Given the description of an element on the screen output the (x, y) to click on. 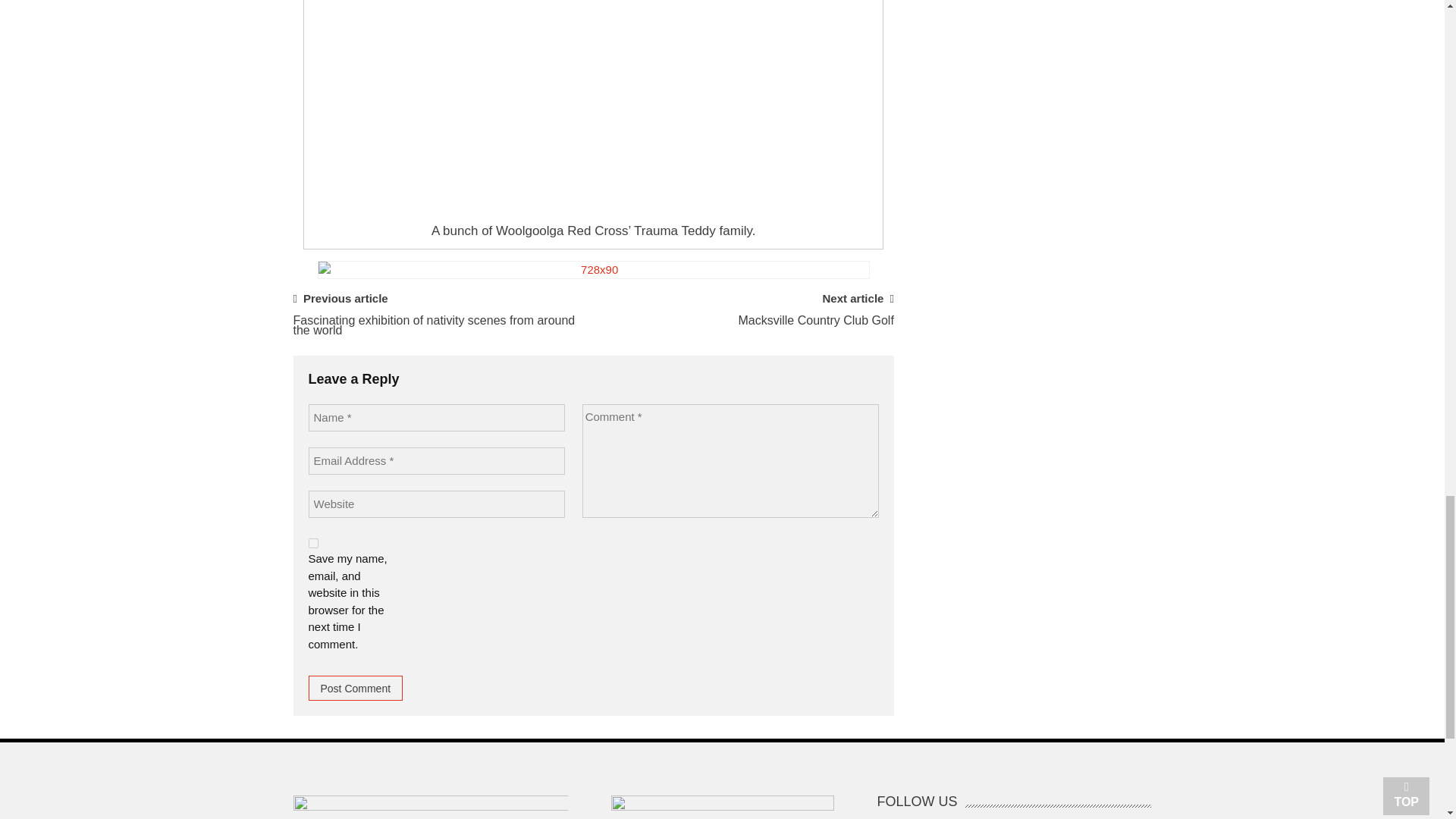
yes (312, 542)
Post Comment (355, 688)
